Given the description of an element on the screen output the (x, y) to click on. 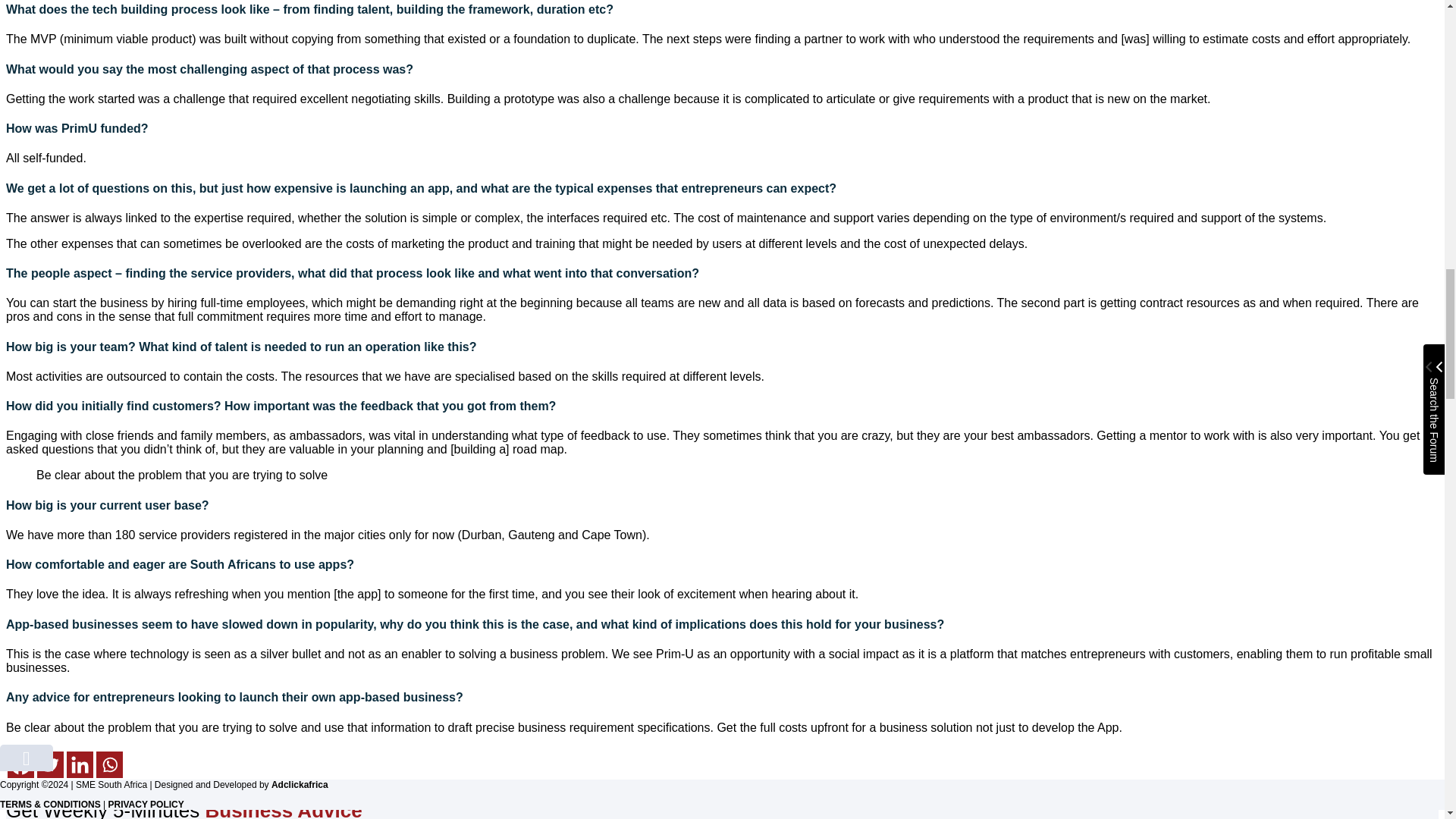
Facebook (20, 764)
Linkedin (79, 764)
Twitter (50, 764)
Whatsapp (109, 764)
